Given the description of an element on the screen output the (x, y) to click on. 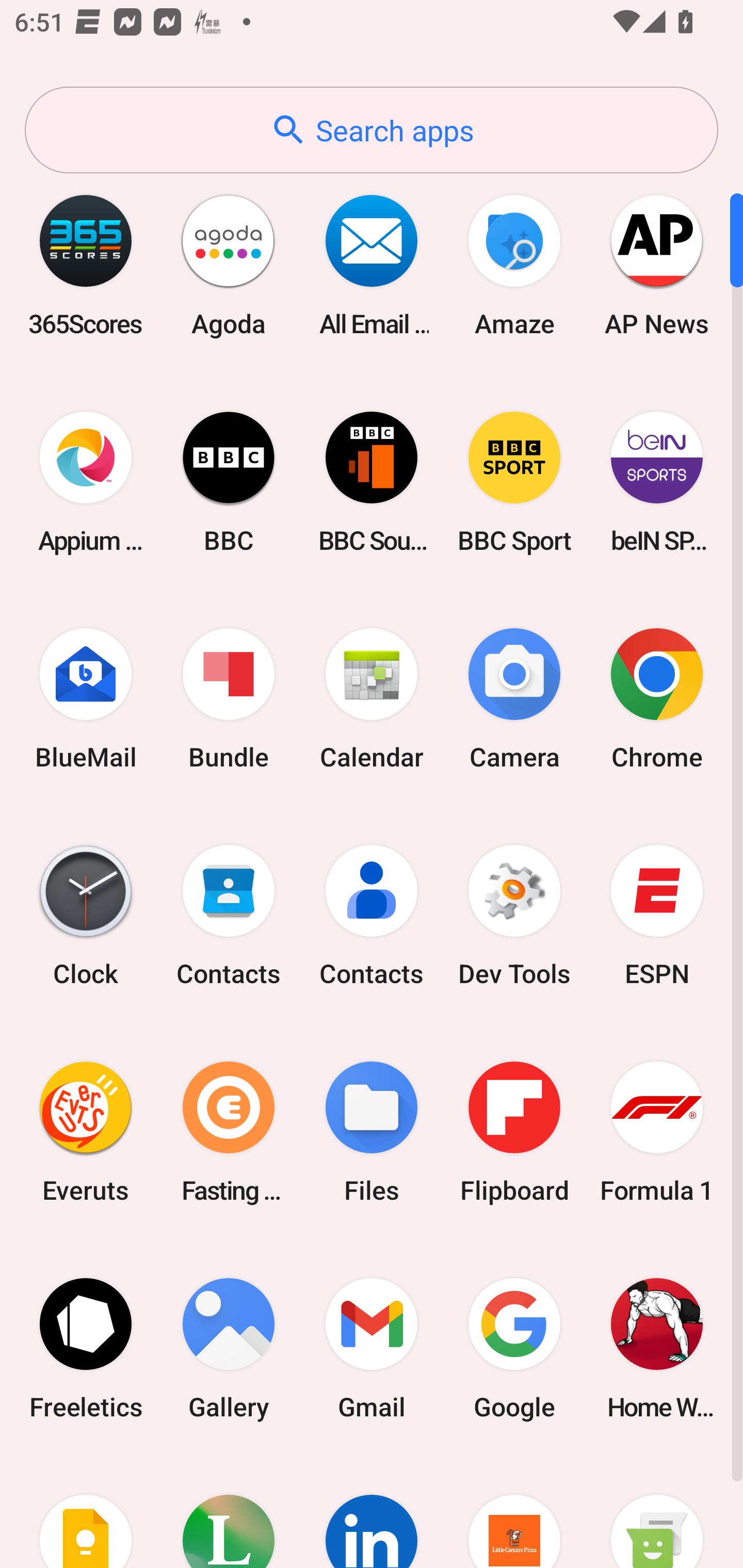
  Search apps (371, 130)
365Scores (85, 264)
Agoda (228, 264)
All Email Connect (371, 264)
Amaze (514, 264)
AP News (656, 264)
Appium Settings (85, 482)
BBC (228, 482)
BBC Sounds (371, 482)
BBC Sport (514, 482)
beIN SPORTS (656, 482)
BlueMail (85, 699)
Bundle (228, 699)
Calendar (371, 699)
Camera (514, 699)
Chrome (656, 699)
Clock (85, 915)
Contacts (228, 915)
Contacts (371, 915)
Dev Tools (514, 915)
ESPN (656, 915)
Everuts (85, 1131)
Fasting Coach (228, 1131)
Files (371, 1131)
Flipboard (514, 1131)
Formula 1 (656, 1131)
Freeletics (85, 1348)
Gallery (228, 1348)
Gmail (371, 1348)
Google (514, 1348)
Home Workout (656, 1348)
Keep Notes (85, 1512)
Lifesum (228, 1512)
LinkedIn (371, 1512)
Little Caesars Pizza (514, 1512)
Messaging (656, 1512)
